Given the description of an element on the screen output the (x, y) to click on. 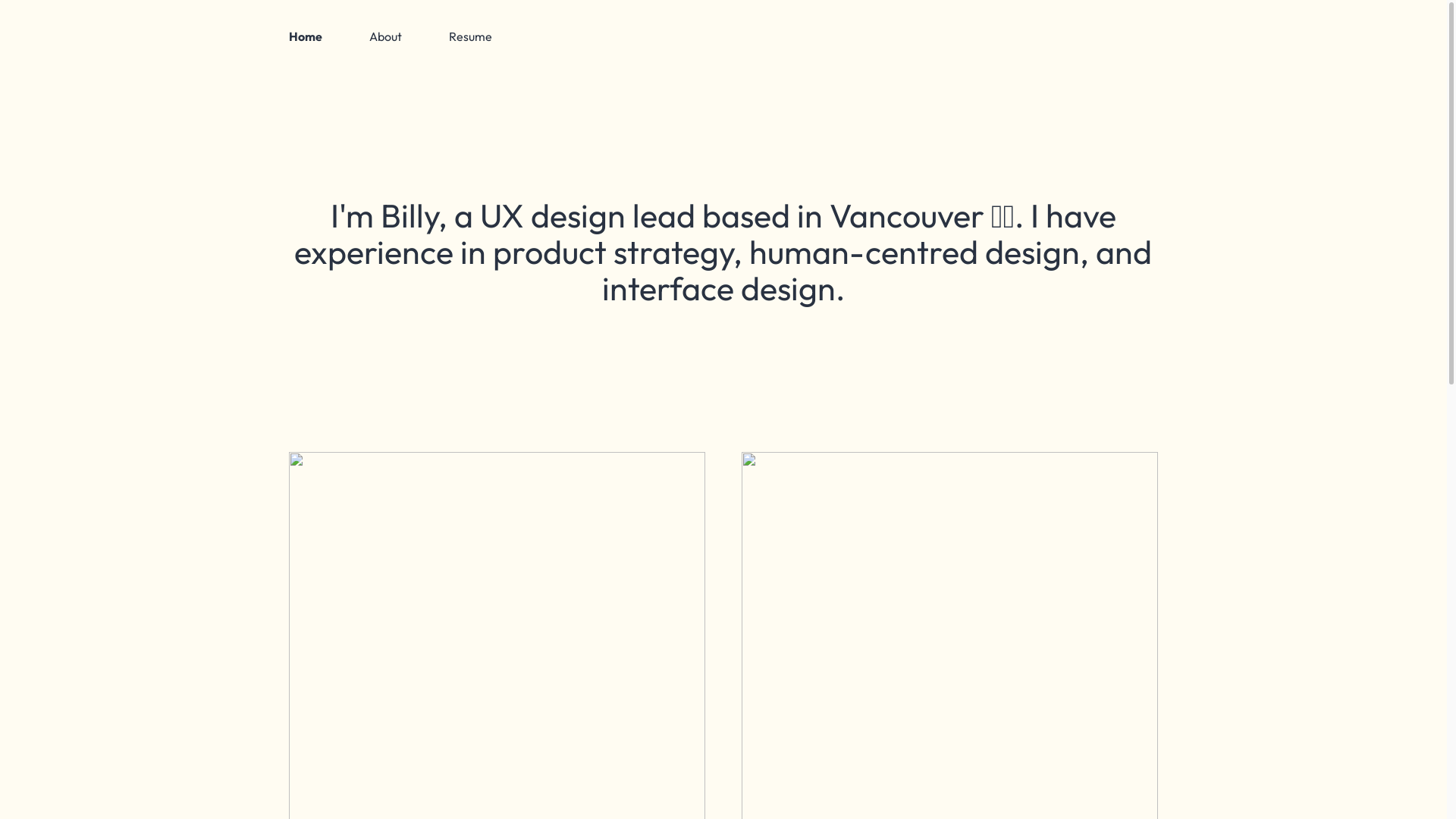
Home Element type: text (305, 36)
Resume Element type: text (470, 36)
About Element type: text (385, 36)
